Given the description of an element on the screen output the (x, y) to click on. 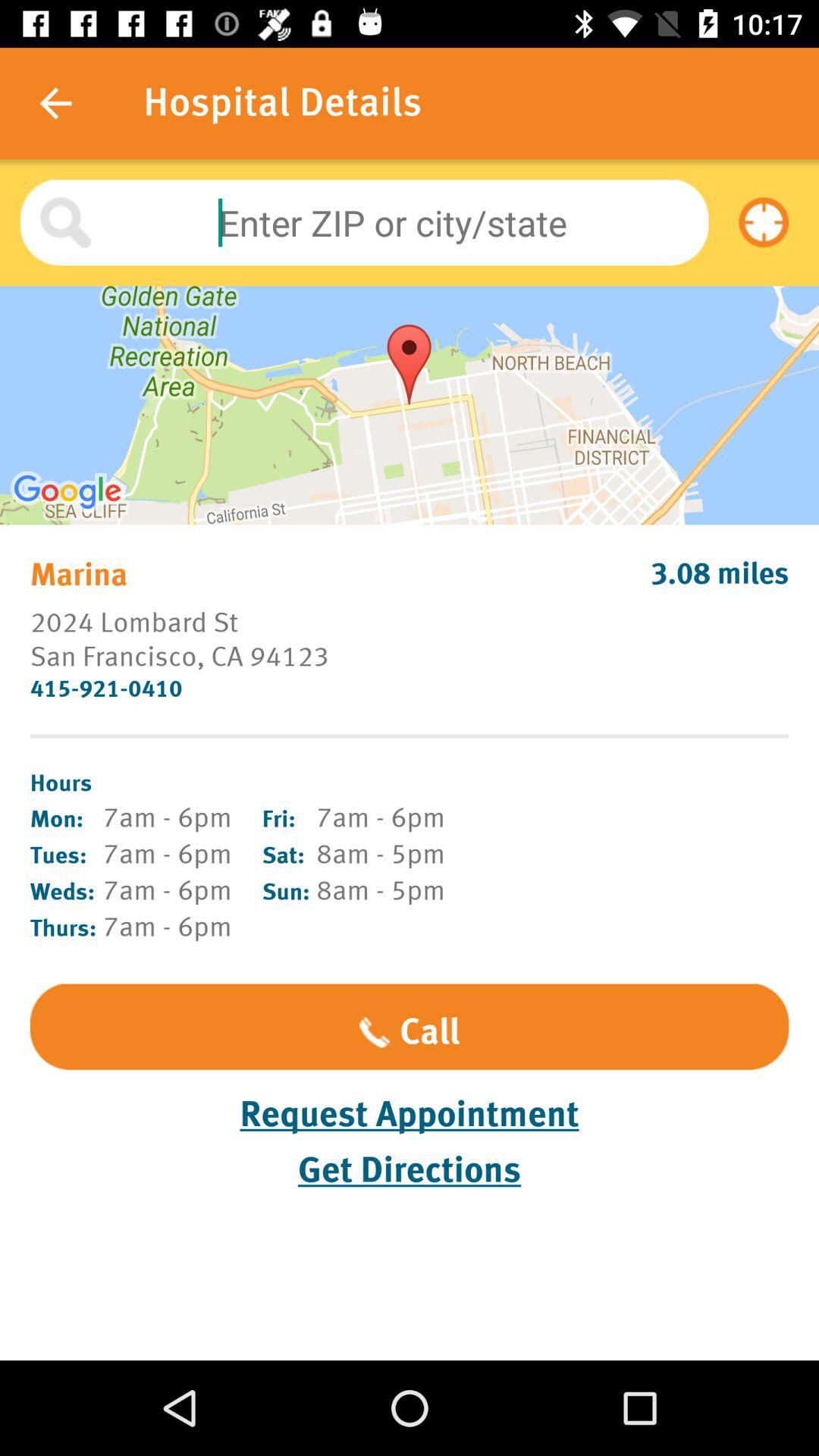
select the get directions (409, 1170)
